Given the description of an element on the screen output the (x, y) to click on. 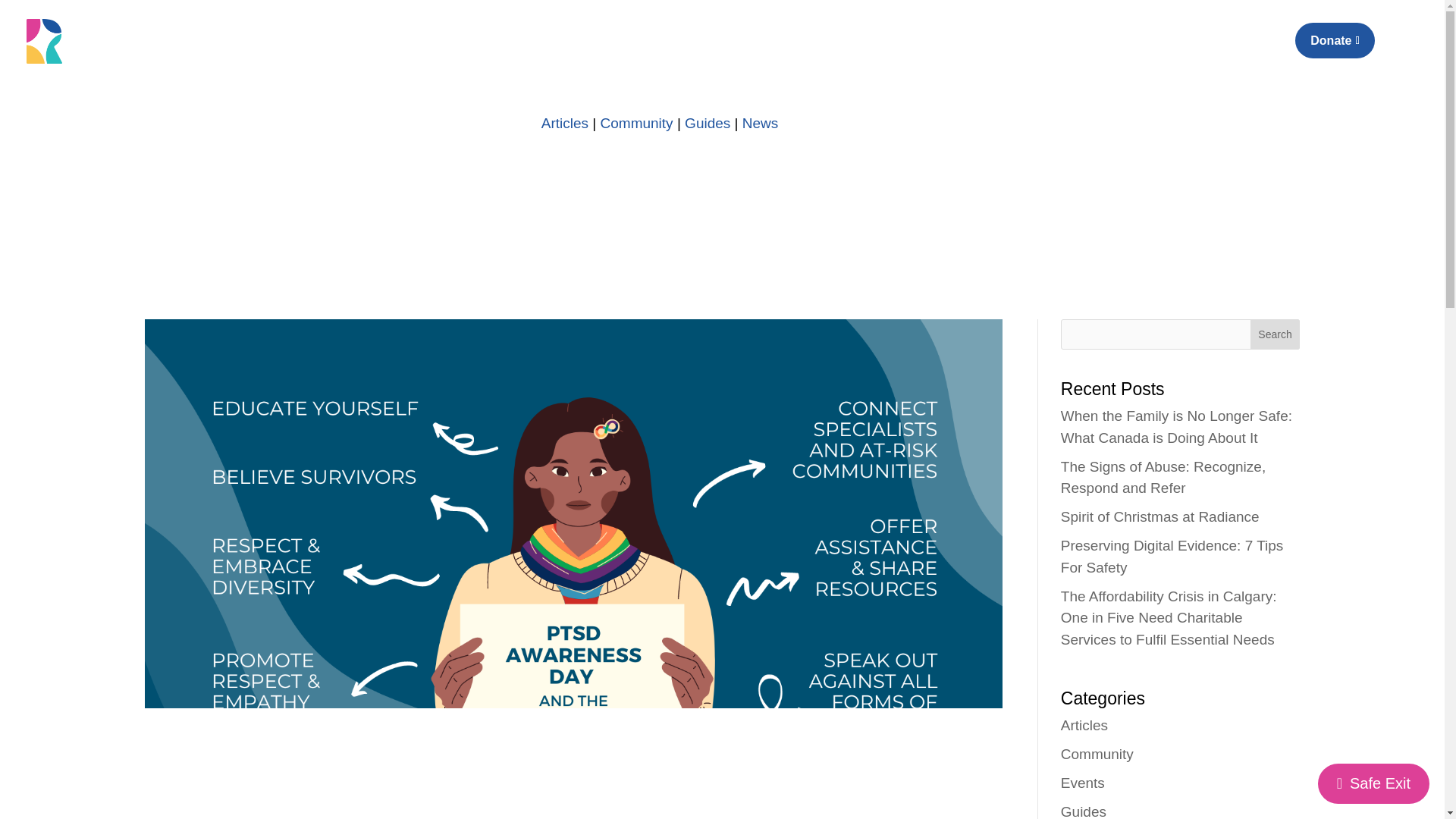
Search (1275, 334)
Safe Exit (1373, 783)
Spirit of Christmas at Radiance (1160, 516)
Community (635, 123)
News (760, 123)
Donate (1334, 40)
Guides (707, 123)
What We Do (1022, 49)
Get Involved (1117, 49)
Articles (564, 123)
Who We Are (927, 49)
The Signs of Abuse: Recognize, Respond and Refer (1163, 477)
Get Help (1201, 49)
